Given the description of an element on the screen output the (x, y) to click on. 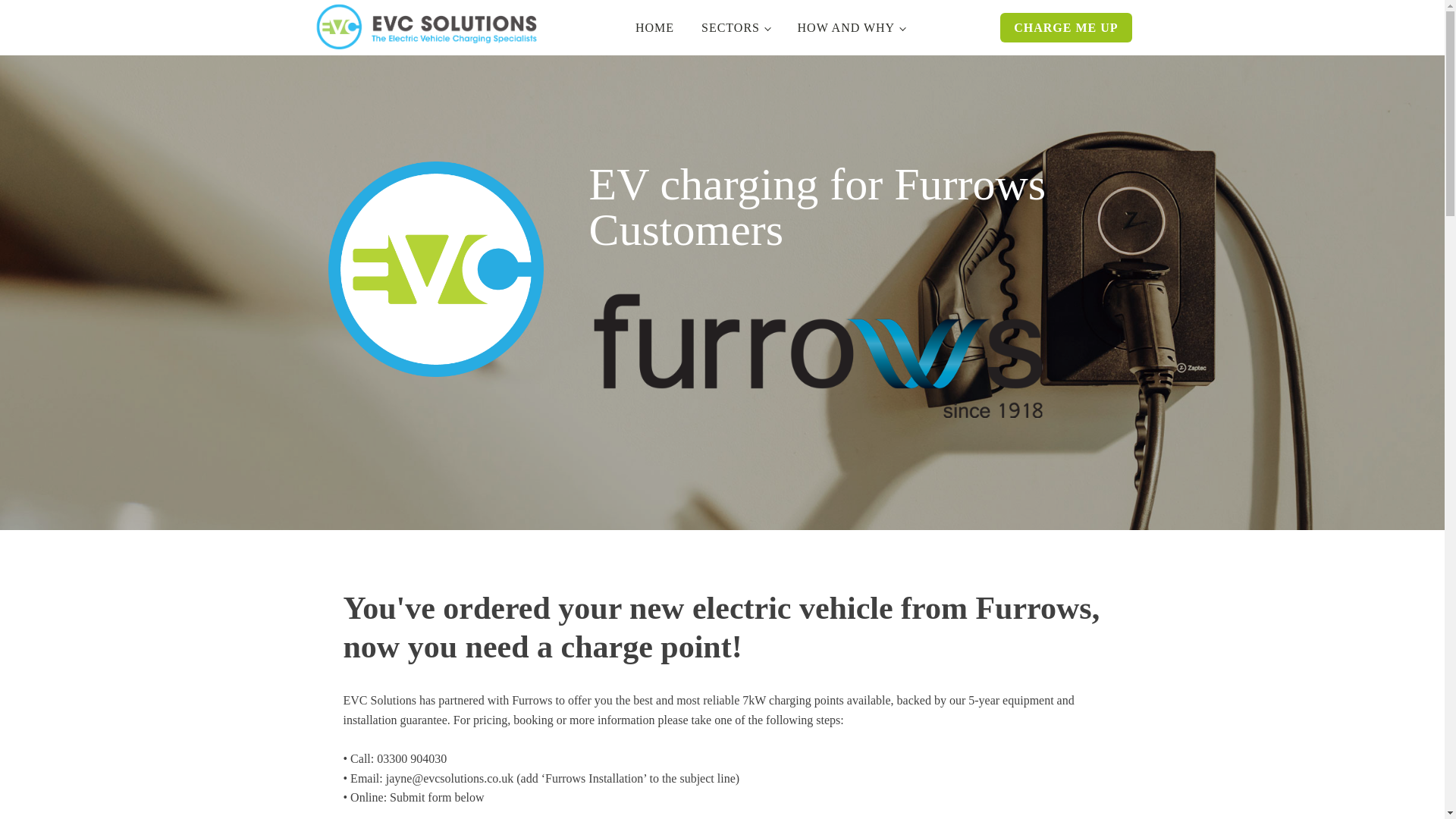
HOW AND WHY (851, 27)
HOME (654, 27)
SECTORS (735, 27)
CHARGE ME UP (1065, 27)
